Given the description of an element on the screen output the (x, y) to click on. 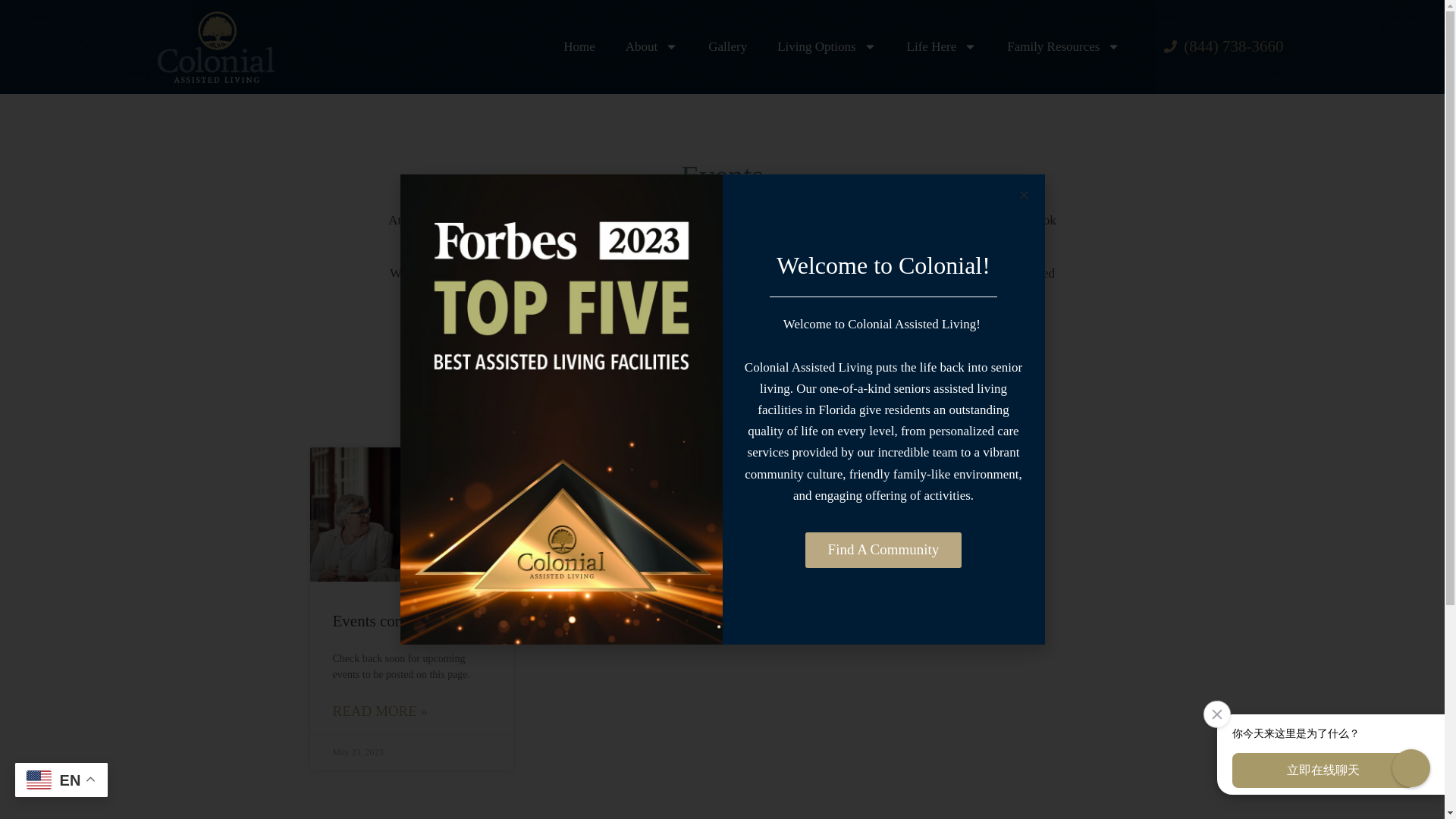
Life Here (941, 46)
About (652, 46)
Home (579, 46)
Living Options (826, 46)
Gallery (727, 46)
Close (1211, 708)
Family Resources (1063, 46)
